Given the description of an element on the screen output the (x, y) to click on. 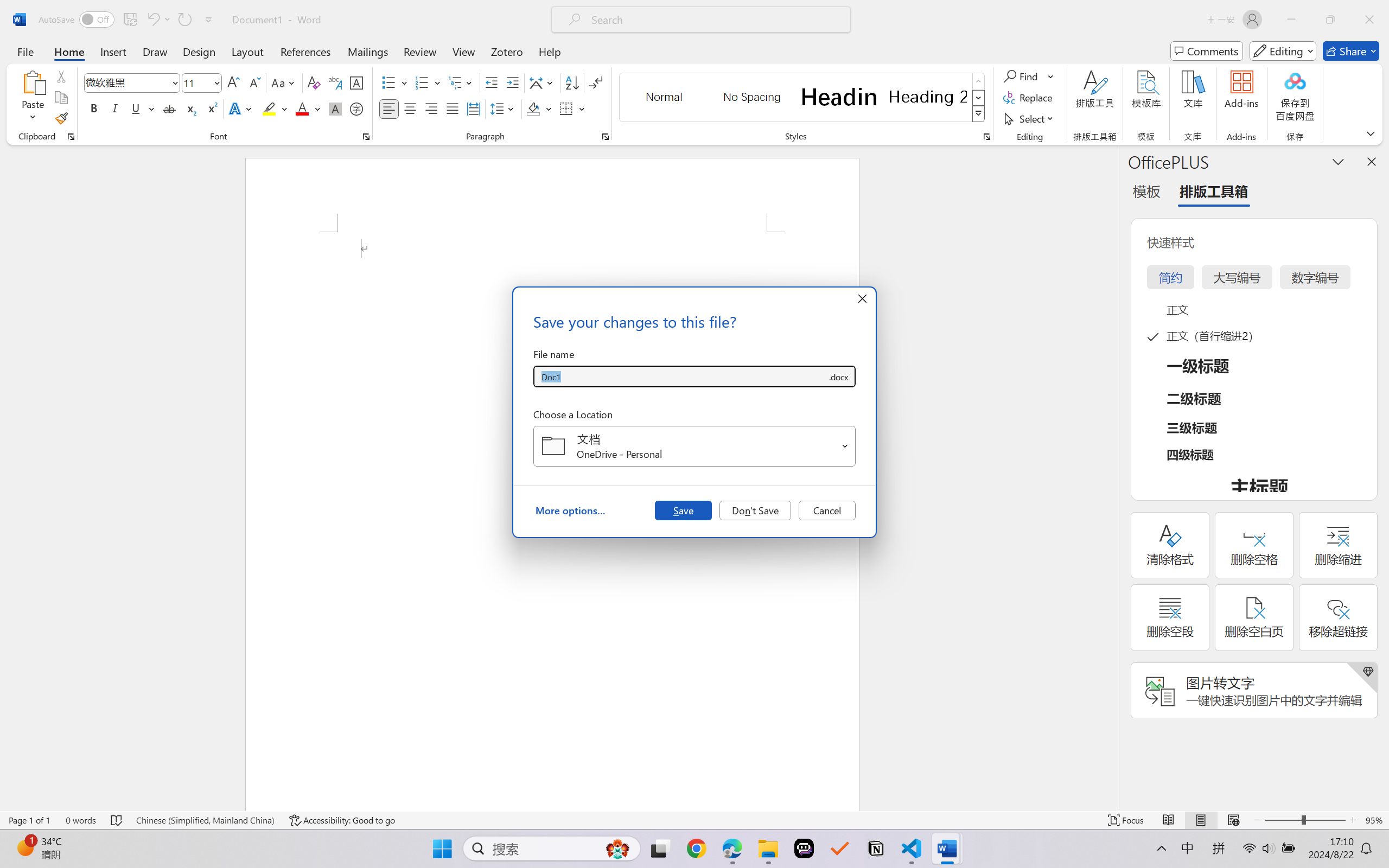
AutomationID: QuickStylesGallery (802, 97)
